Given the description of an element on the screen output the (x, y) to click on. 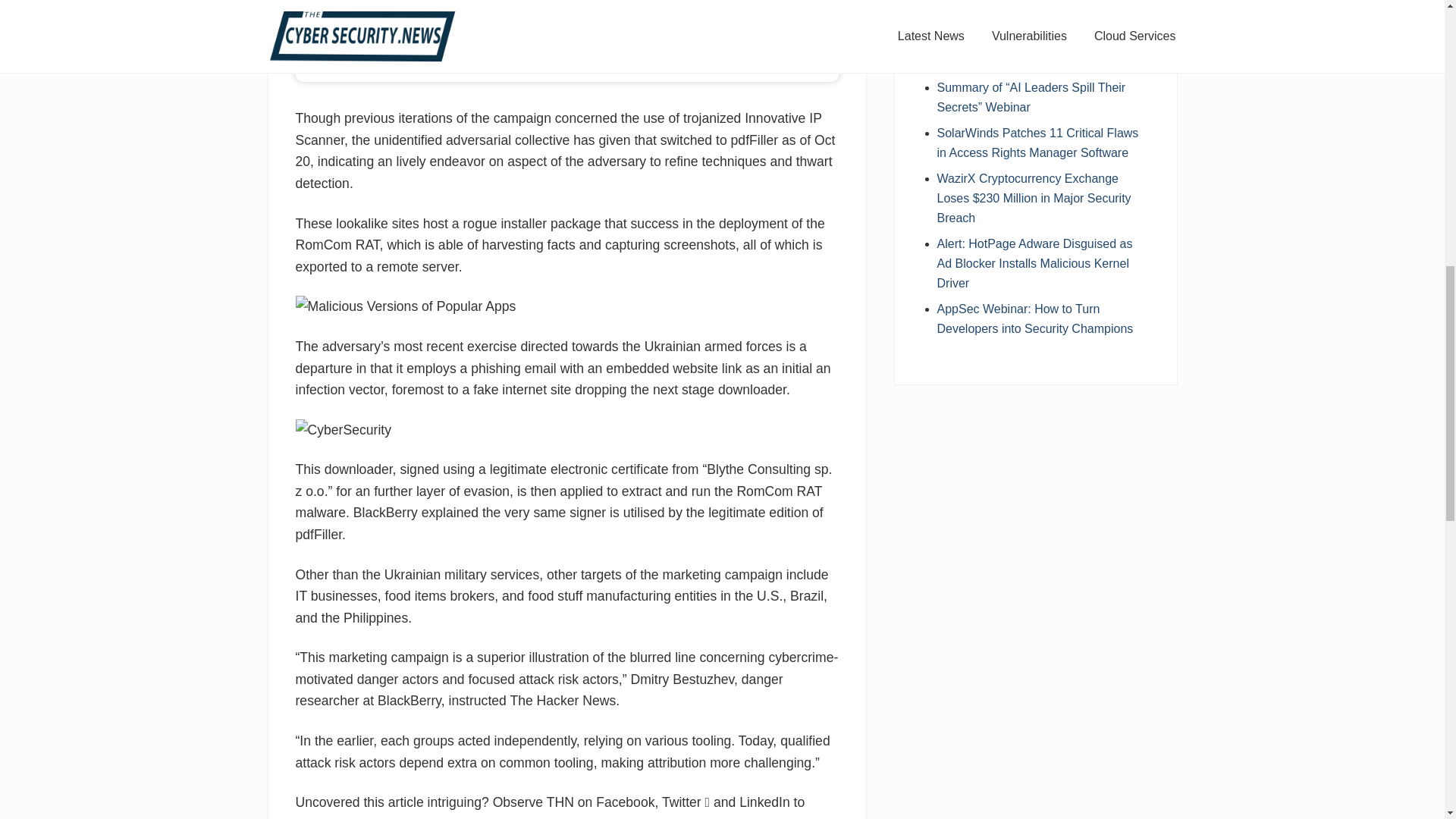
Malicious Versions of Popular Apps (405, 306)
